Given the description of an element on the screen output the (x, y) to click on. 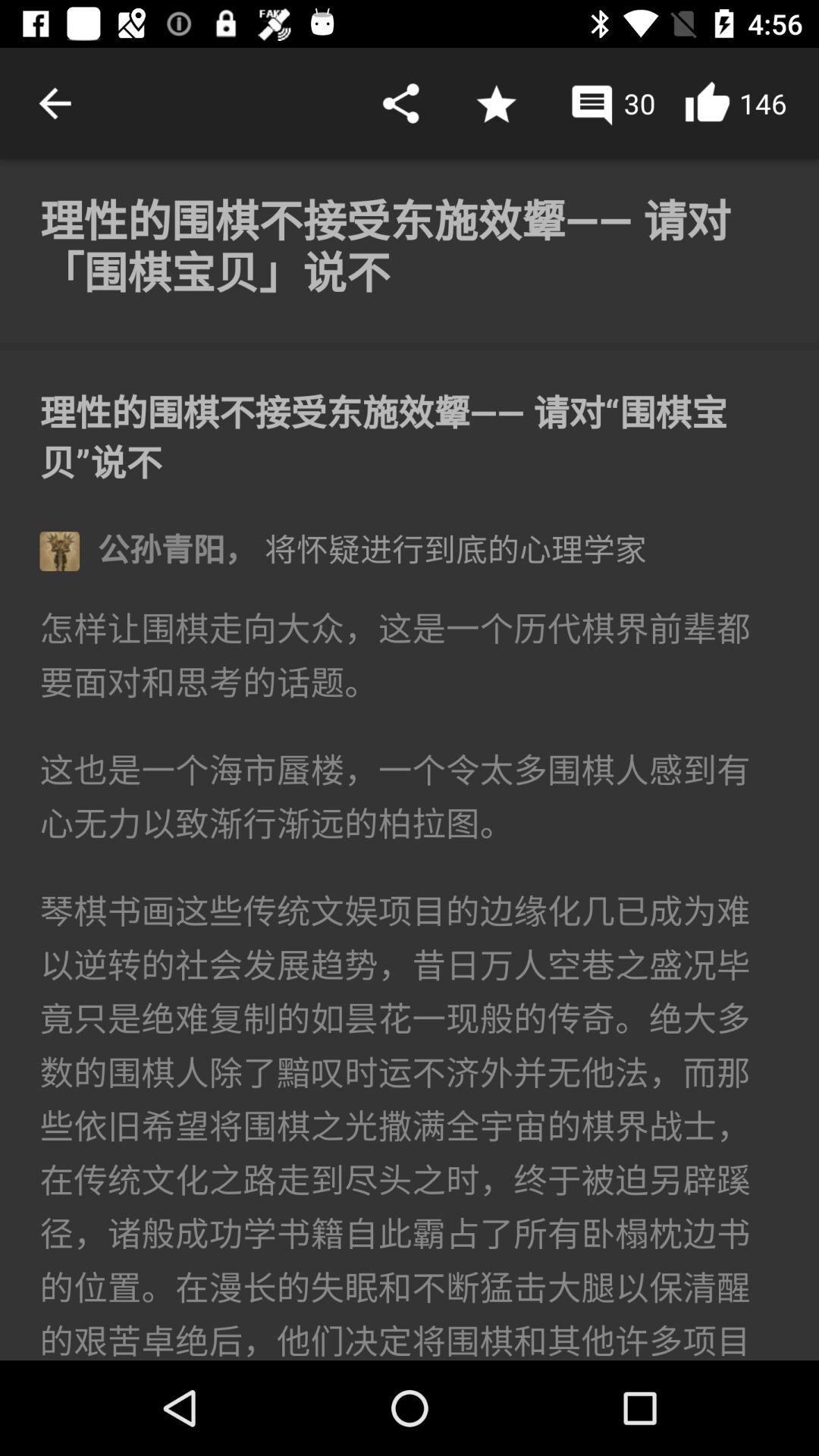
the article (409, 759)
